Given the description of an element on the screen output the (x, y) to click on. 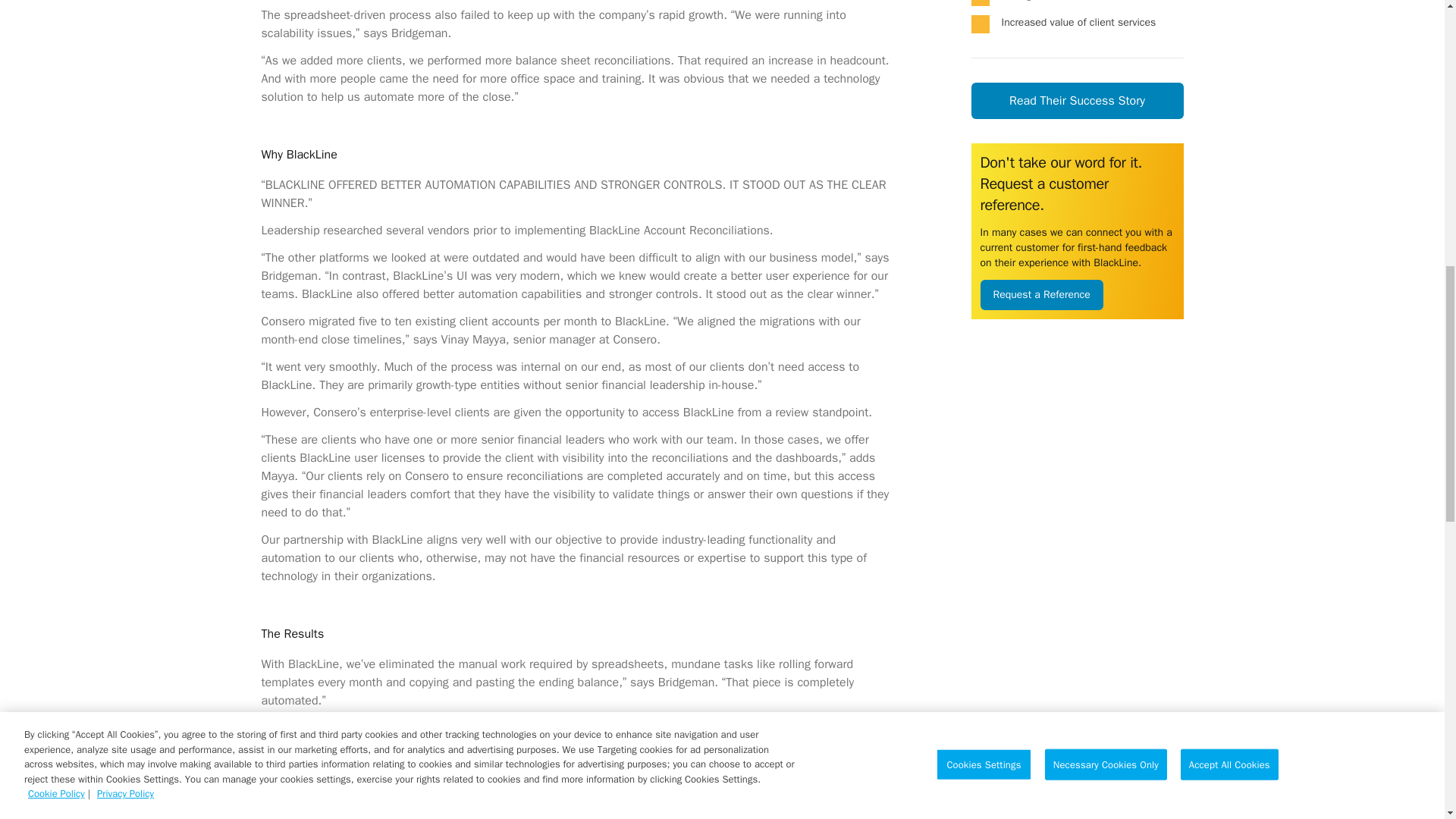
Read Their Success Story (1076, 100)
Request a Reference (1040, 295)
